Given the description of an element on the screen output the (x, y) to click on. 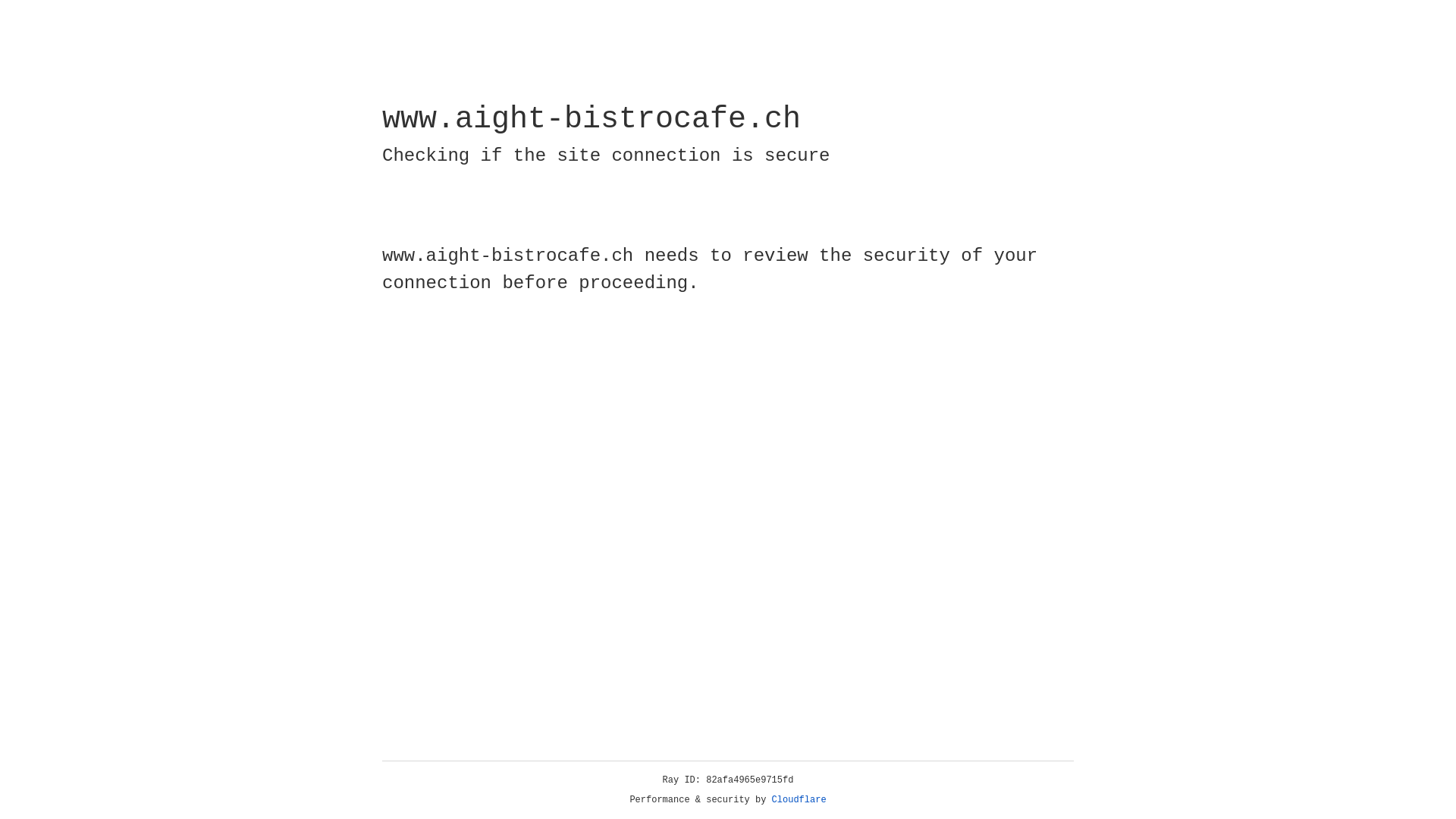
Cloudflare Element type: text (798, 799)
